Given the description of an element on the screen output the (x, y) to click on. 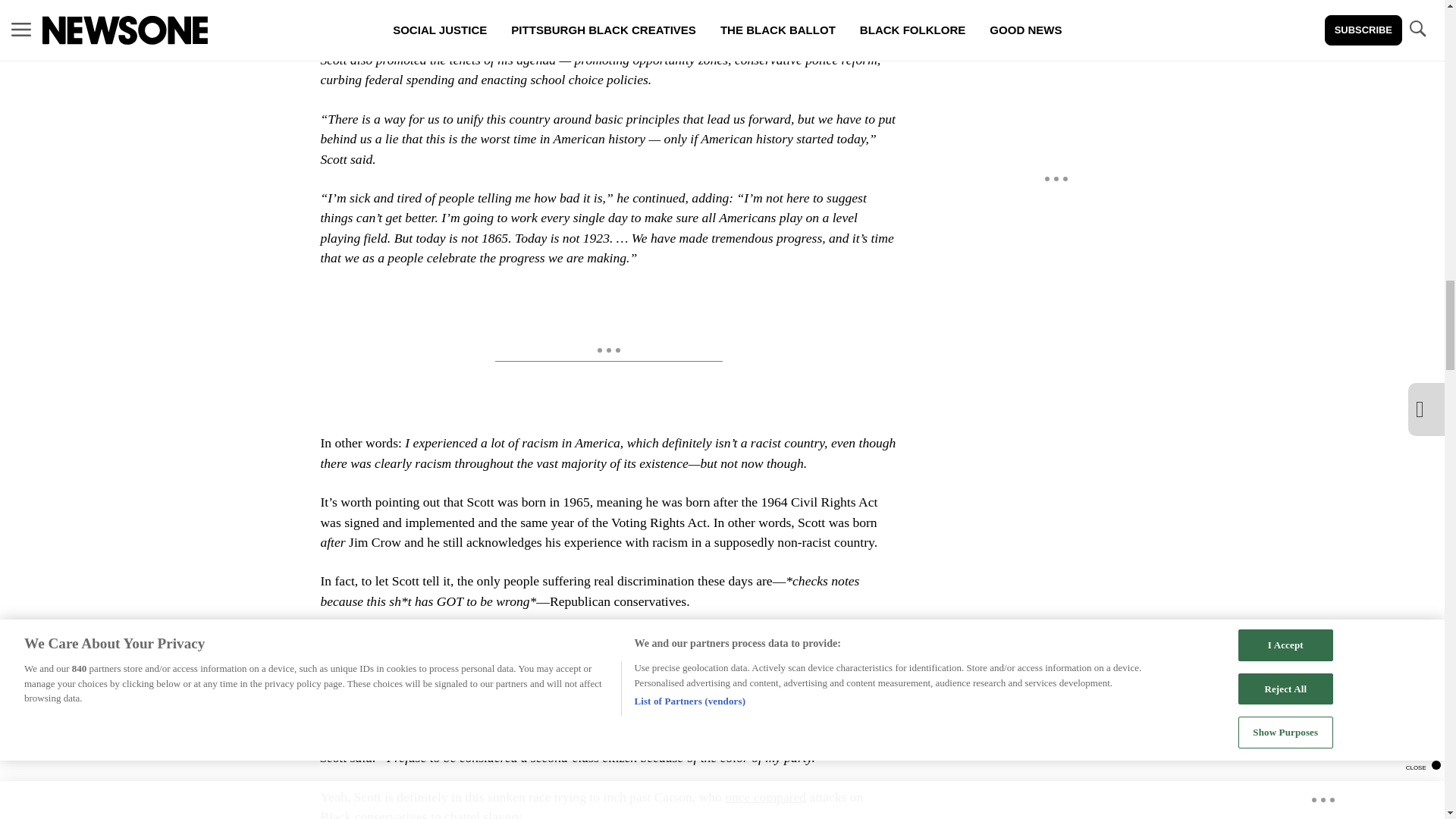
once compared (765, 796)
